Given the description of an element on the screen output the (x, y) to click on. 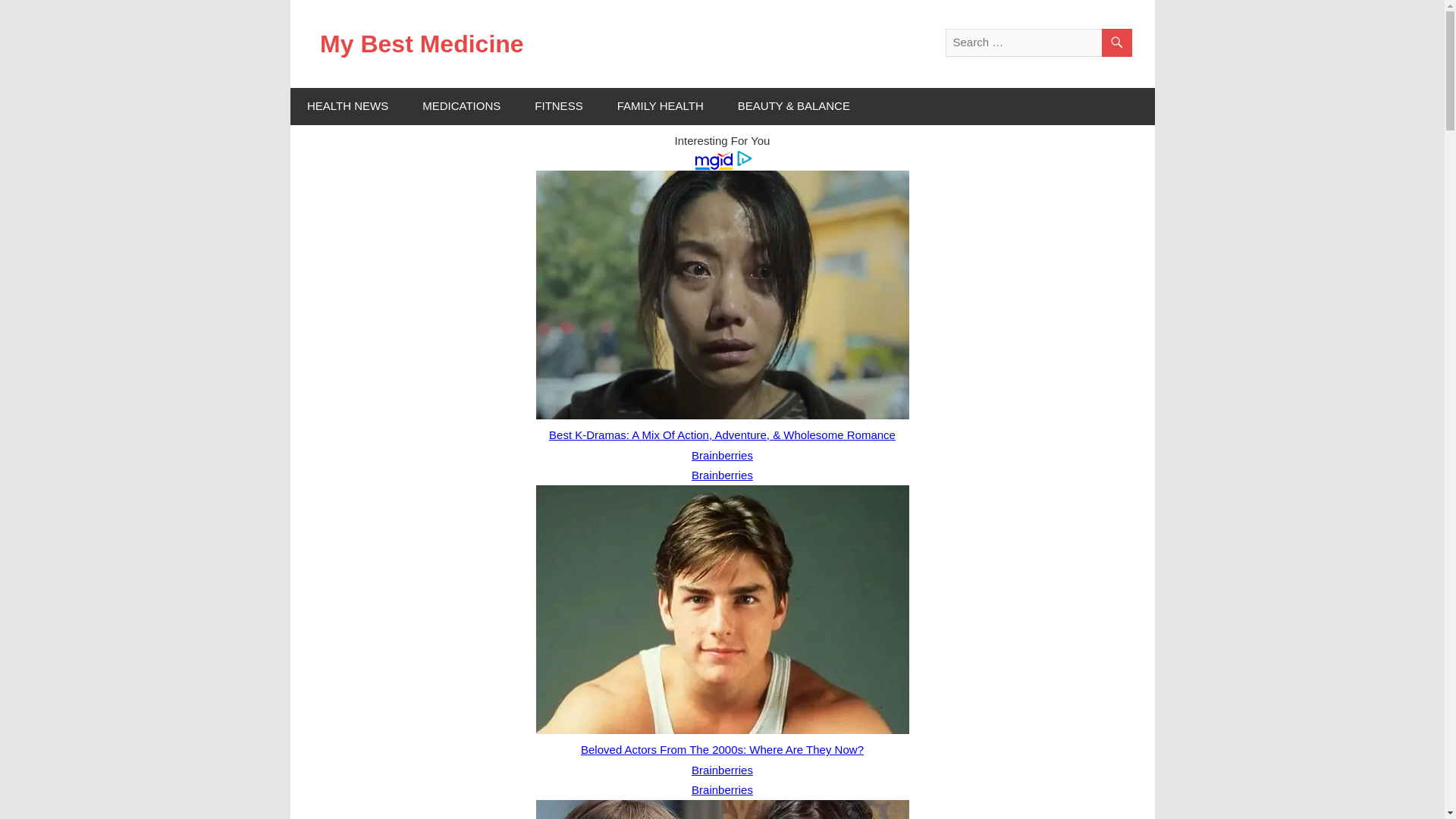
FAMILY HEALTH (659, 106)
MEDICATIONS (462, 106)
HEALTH NEWS (346, 106)
FITNESS (558, 106)
Search for: (1037, 42)
My Best Medicine (422, 43)
